Given the description of an element on the screen output the (x, y) to click on. 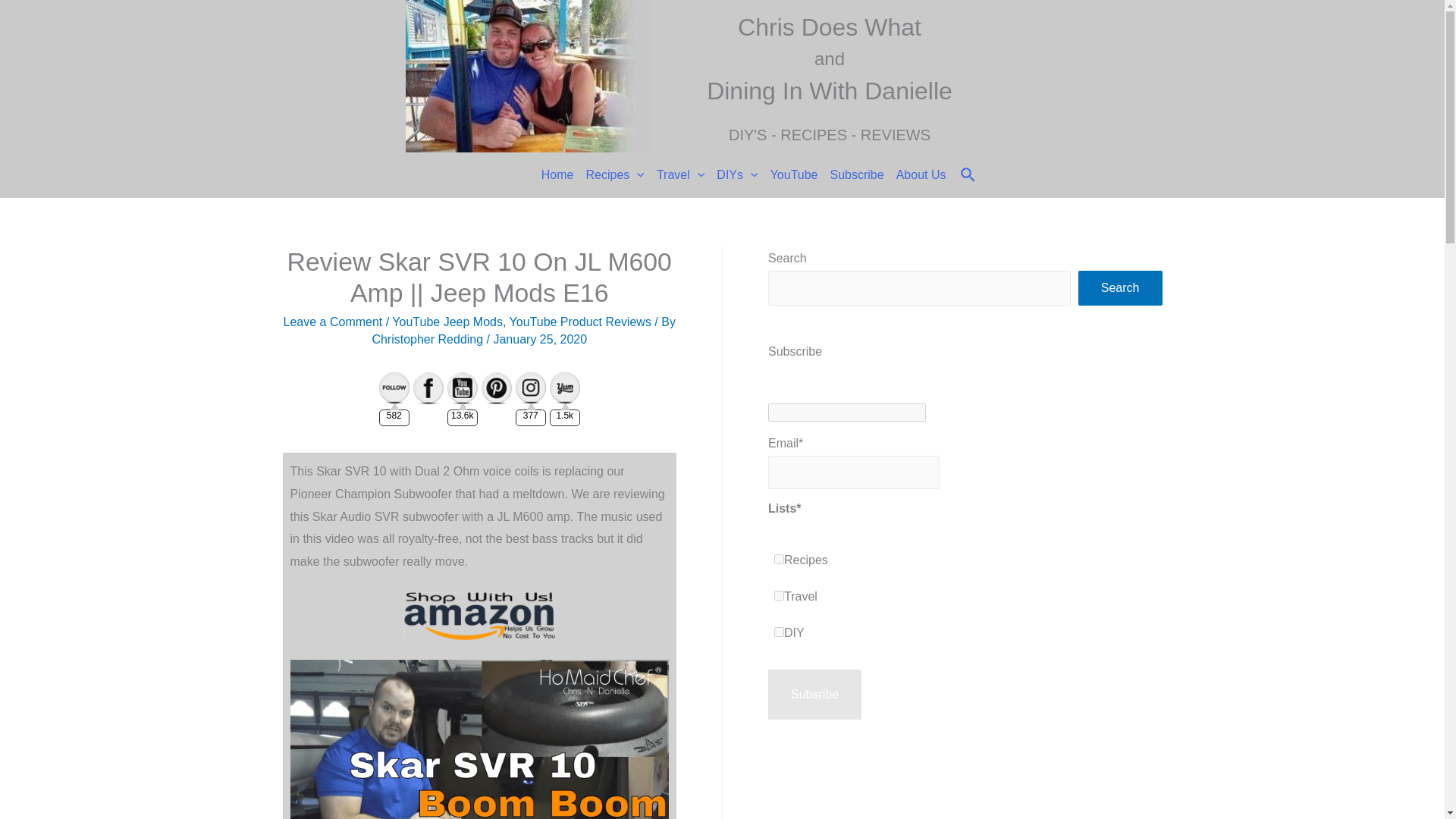
Subsribe (814, 694)
View all posts by Christopher Redding (427, 338)
Recipes (608, 175)
644545597052 (779, 595)
Home (551, 175)
YouTube (788, 175)
DIYs (730, 175)
cc4f963d842b (779, 632)
Subscribe (849, 175)
Travel (674, 175)
7999831edbfd (779, 559)
